Given the description of an element on the screen output the (x, y) to click on. 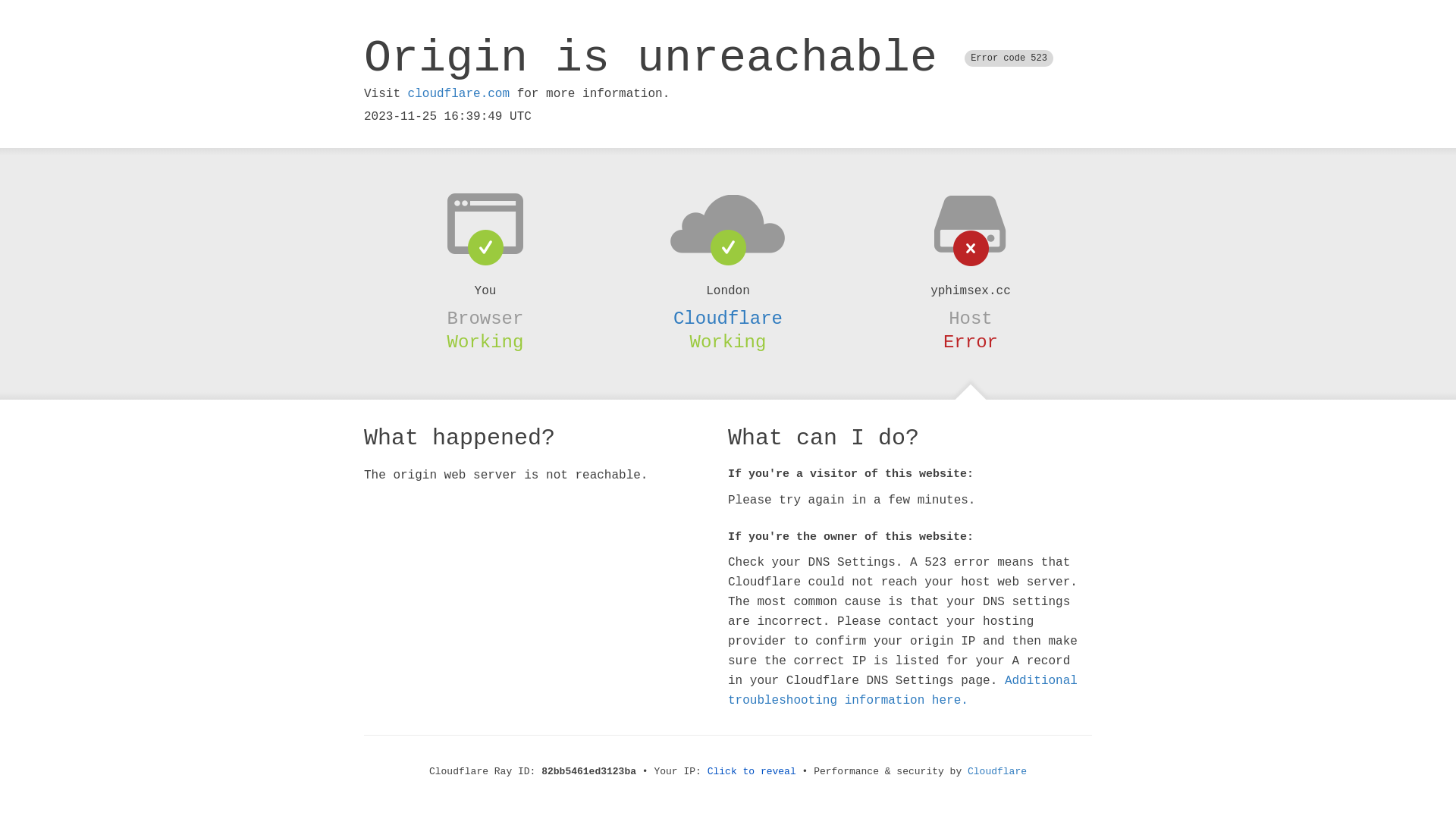
cloudflare.com Element type: text (458, 93)
Additional troubleshooting information here. Element type: text (902, 690)
Click to reveal Element type: text (751, 771)
Cloudflare Element type: text (996, 771)
Cloudflare Element type: text (727, 318)
